Given the description of an element on the screen output the (x, y) to click on. 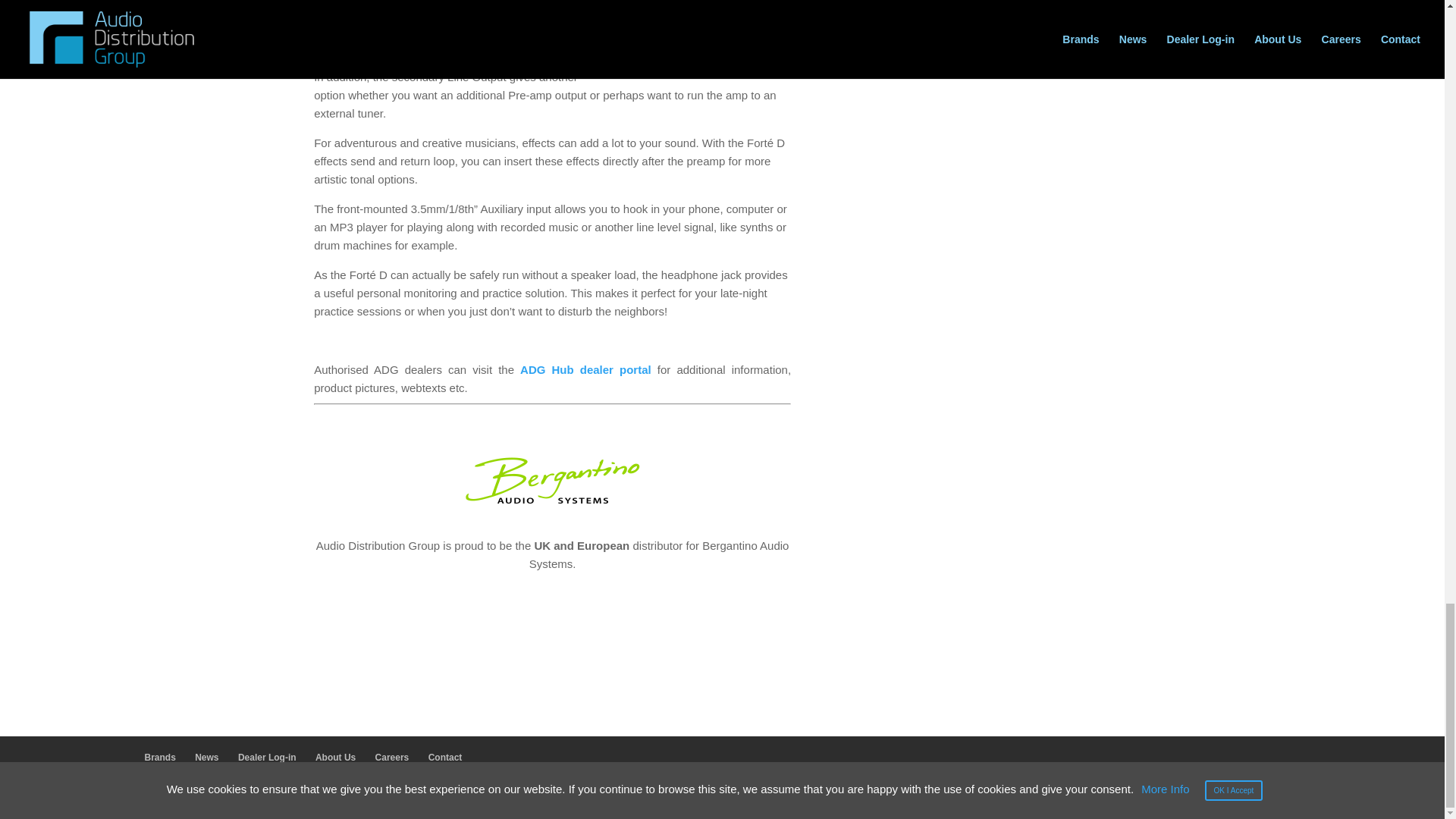
ADG Hub dealer portal (584, 369)
